Given the description of an element on the screen output the (x, y) to click on. 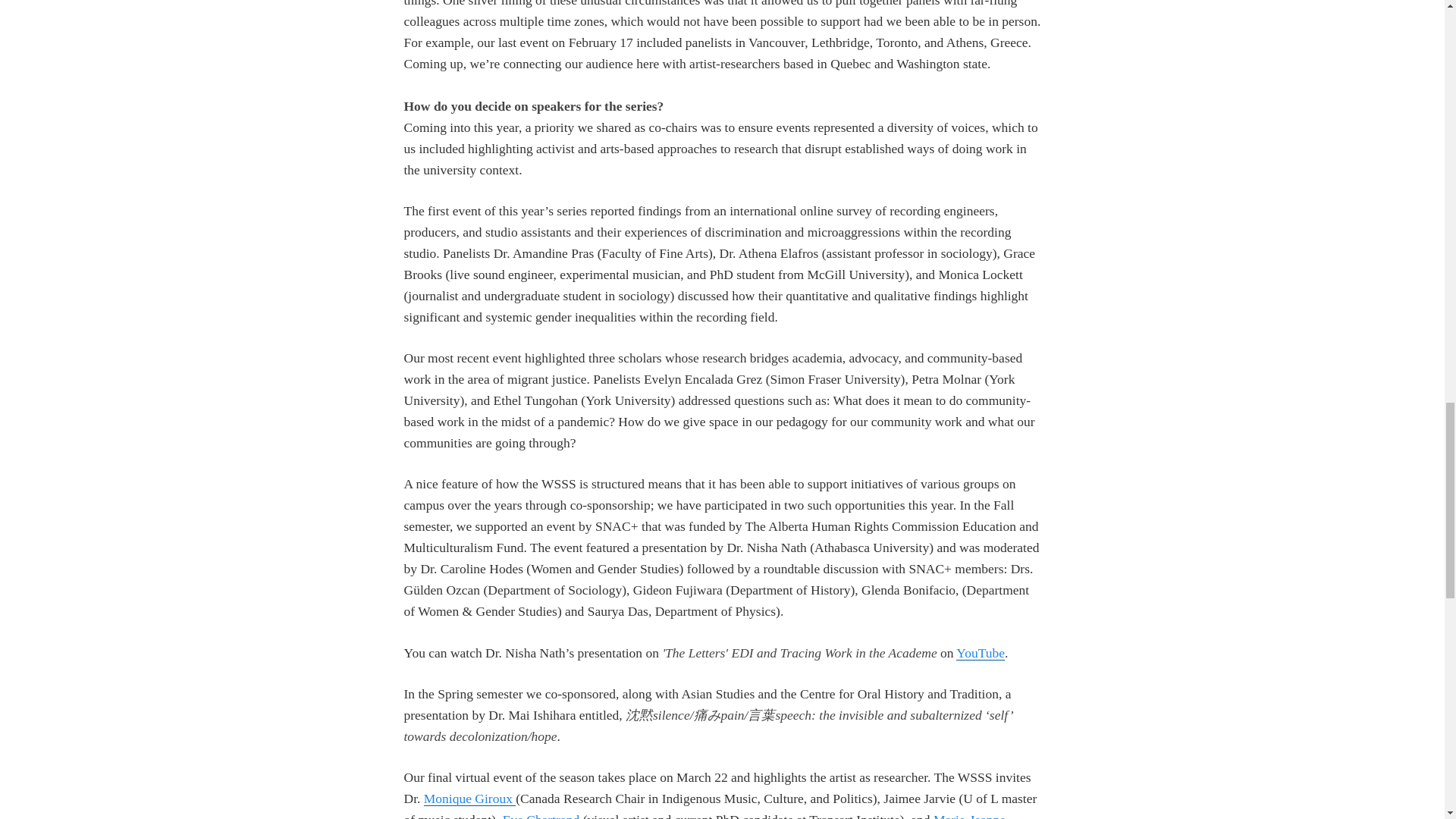
YouTube (980, 652)
Eve Chartrand (540, 815)
Monique Giroux (469, 798)
